Given the description of an element on the screen output the (x, y) to click on. 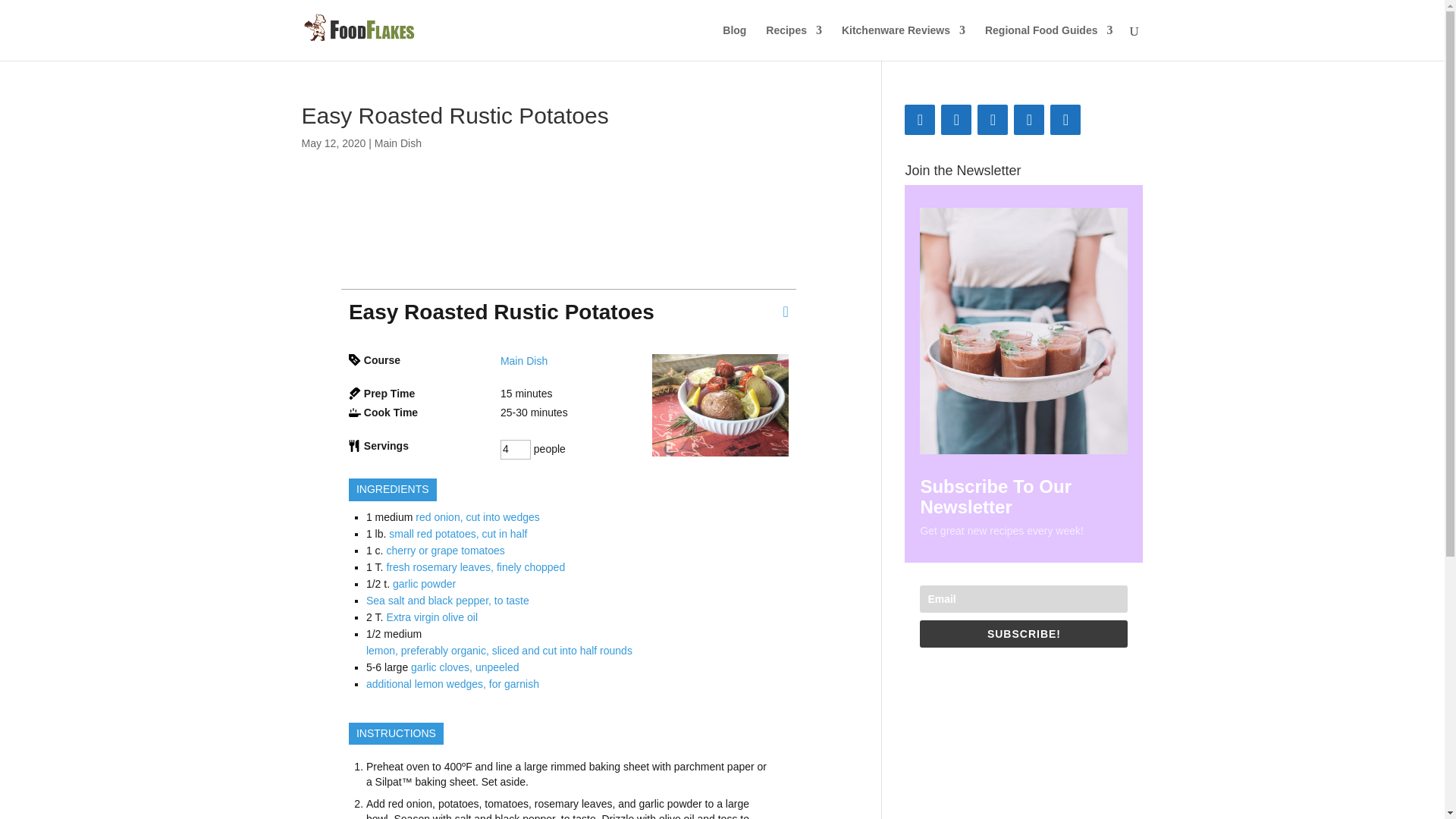
Kitchenware Reviews (903, 42)
Instagram (1064, 119)
4 (515, 449)
Twitter (991, 119)
Pinterest (1028, 119)
Main Dish (398, 143)
Facebook (919, 119)
Regional Food Guides (1049, 42)
Recipes (793, 42)
